Given the description of an element on the screen output the (x, y) to click on. 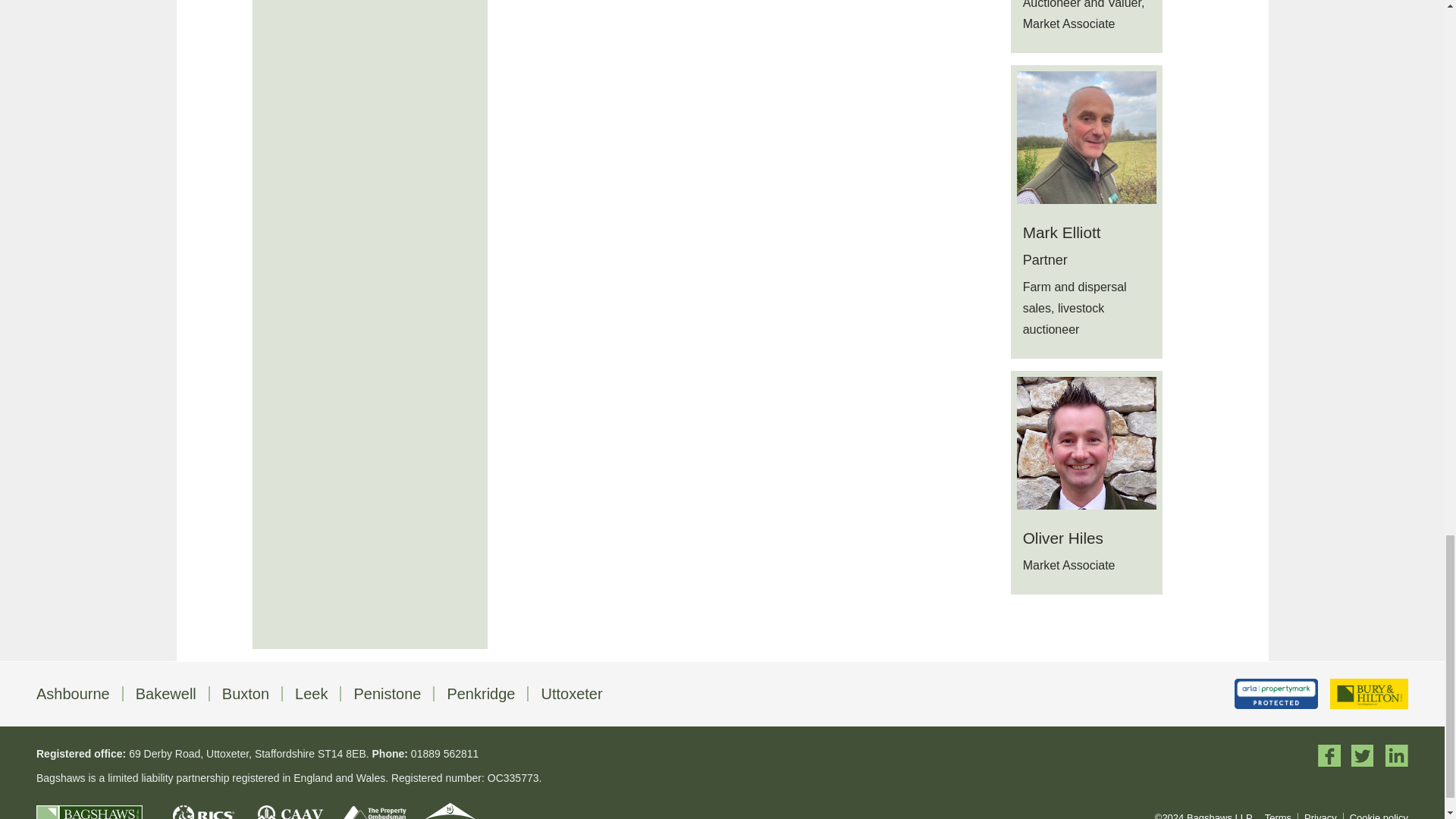
Penistone (386, 693)
Ashbourne (73, 693)
Buxton (245, 693)
Leek (311, 693)
Penkridge (480, 693)
Bakewell (165, 693)
